Given the description of an element on the screen output the (x, y) to click on. 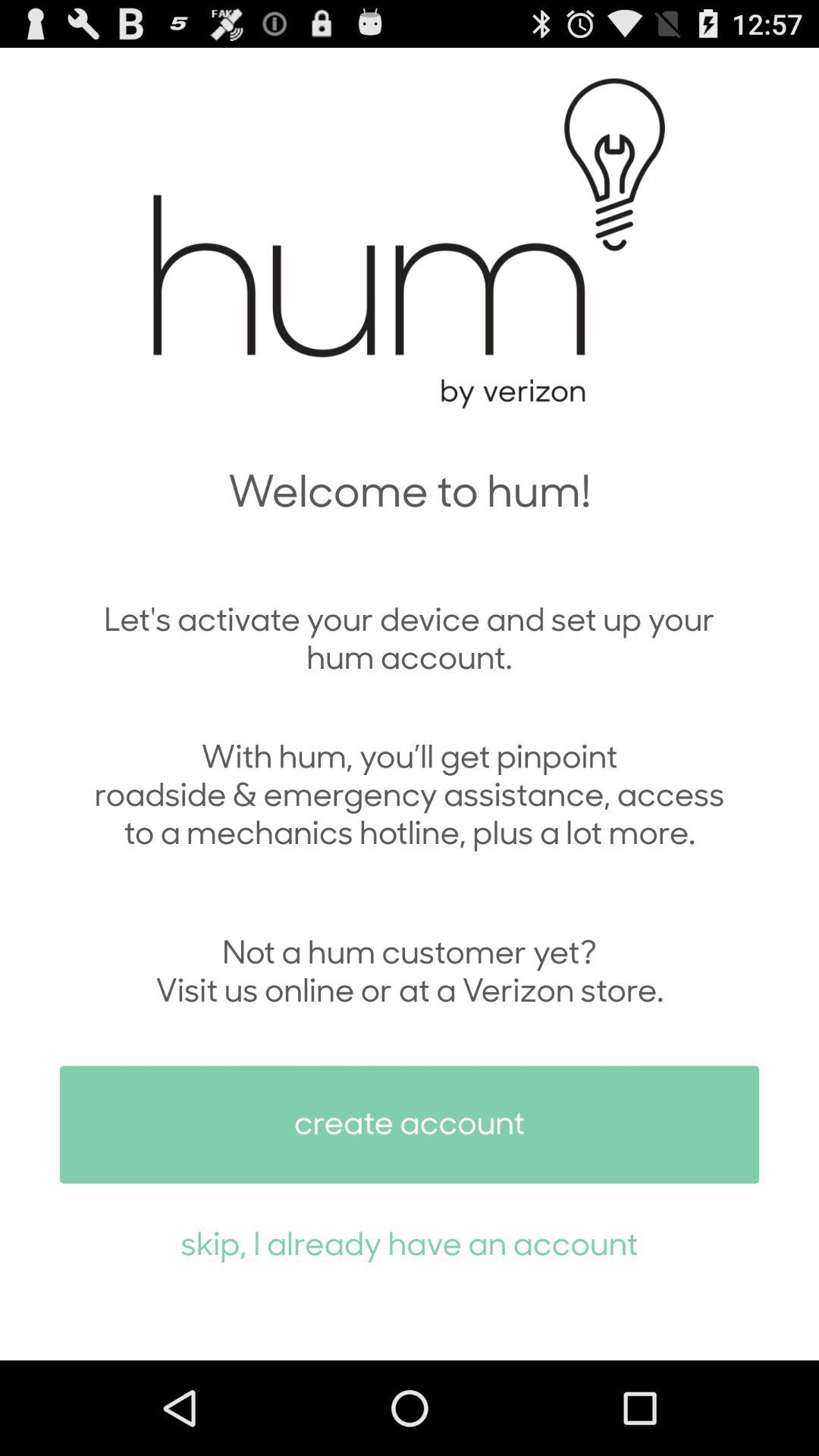
select the skip i already item (409, 1242)
